Given the description of an element on the screen output the (x, y) to click on. 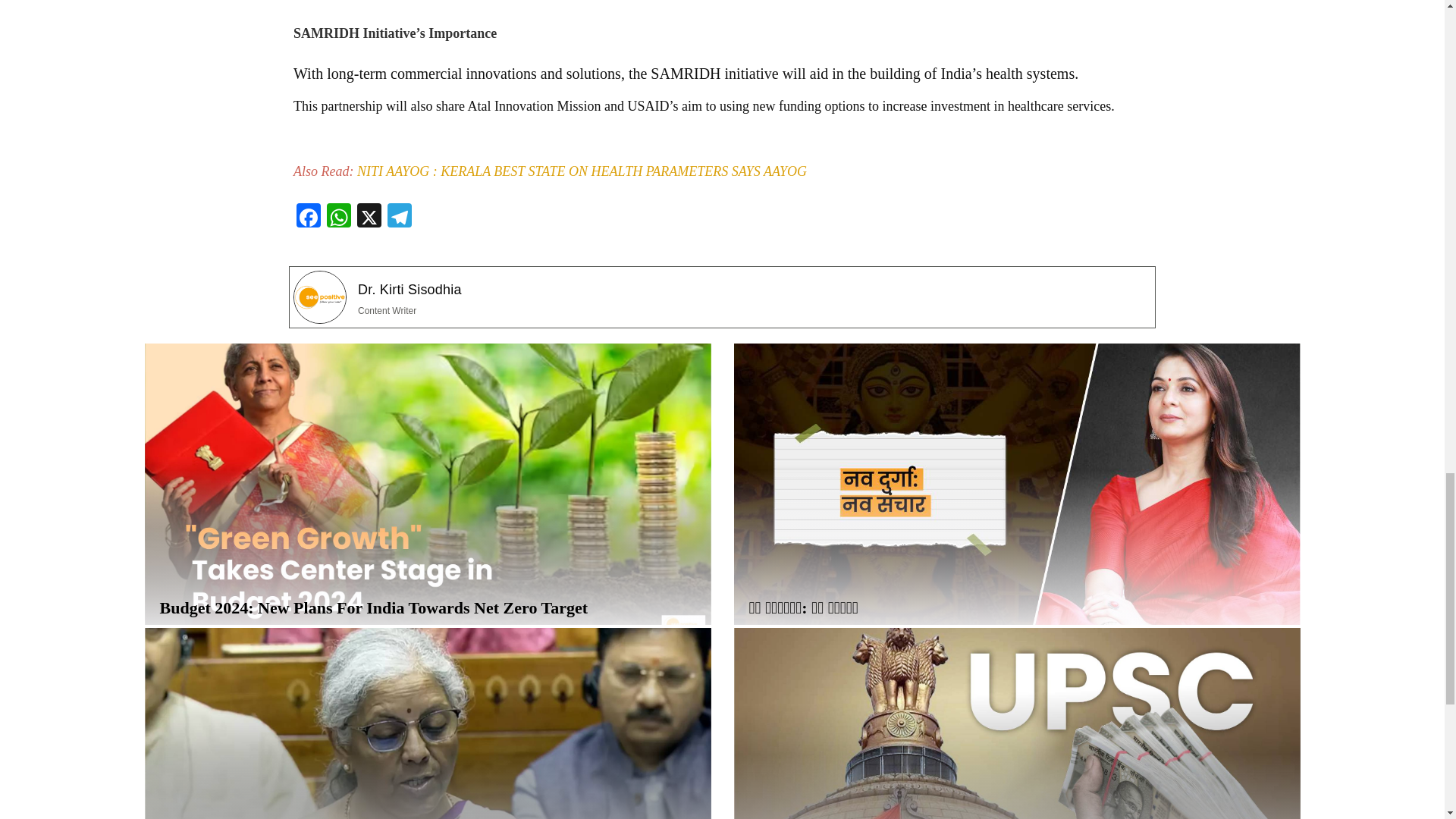
Facebook (308, 216)
Telegram (399, 216)
WhatsApp (338, 216)
X (368, 216)
